Given the description of an element on the screen output the (x, y) to click on. 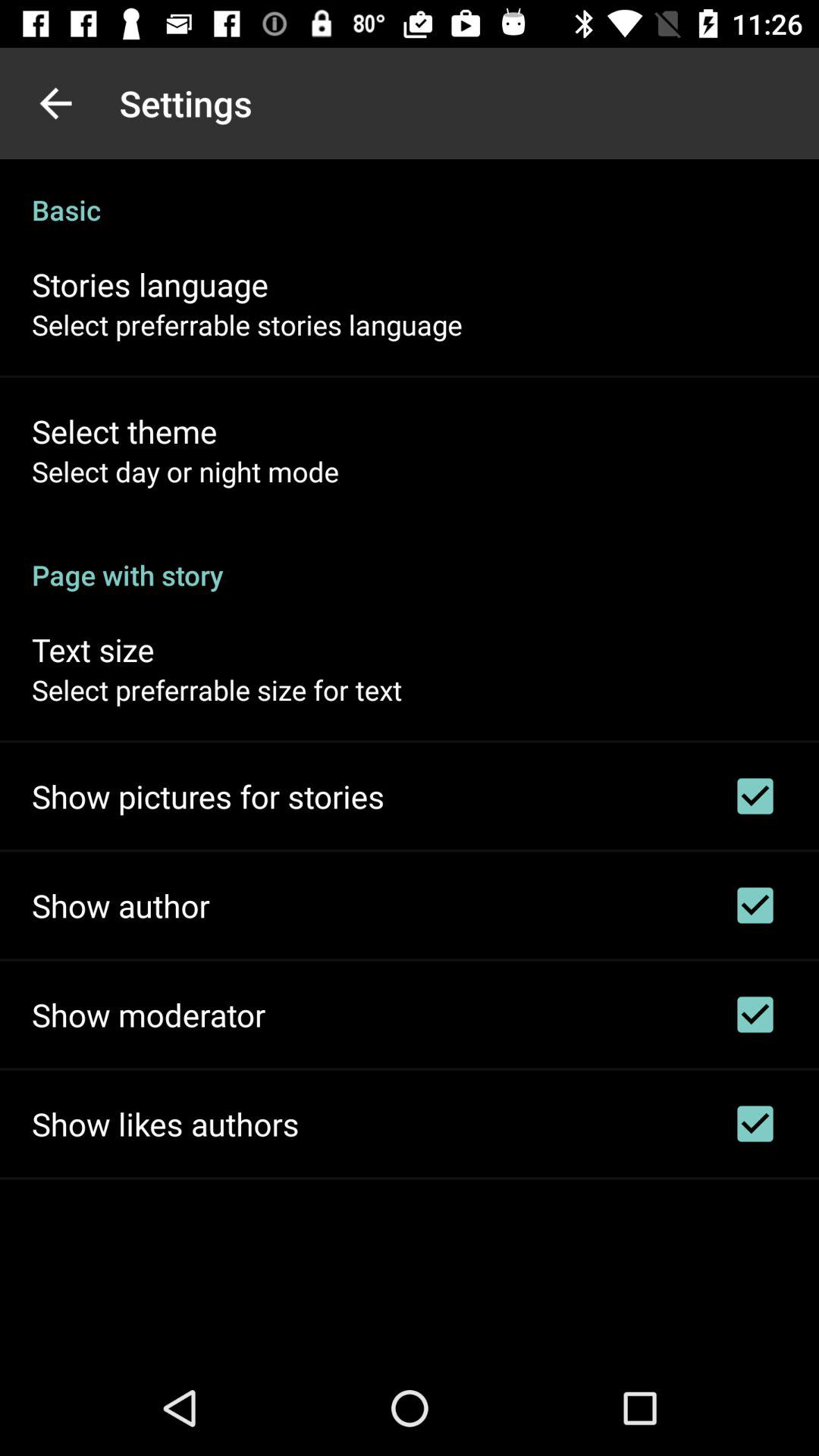
select the select theme item (124, 430)
